Given the description of an element on the screen output the (x, y) to click on. 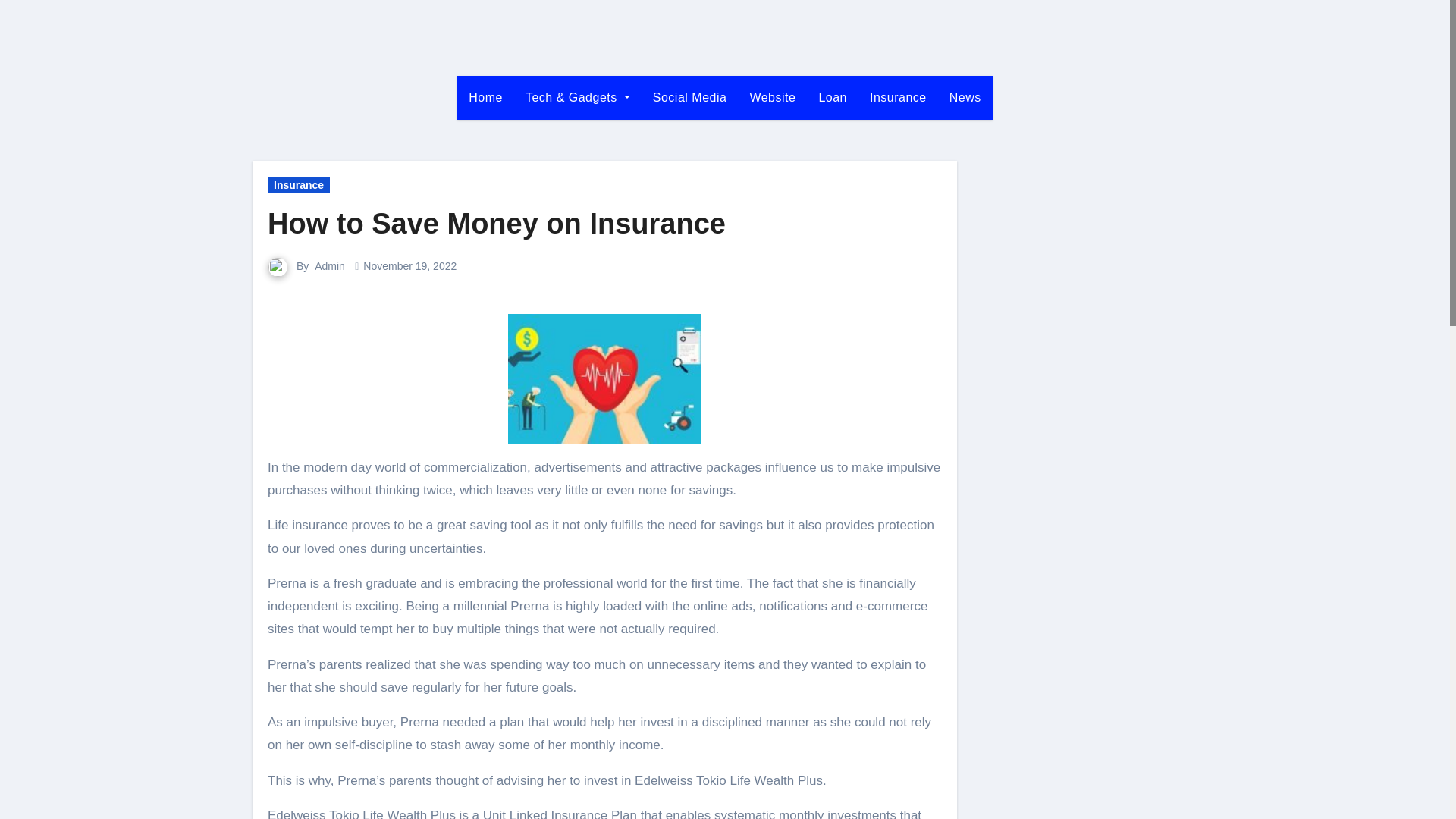
Home (485, 97)
Home (485, 97)
Admin (329, 265)
Website (772, 97)
Social Media (690, 97)
Loan (832, 97)
Website (772, 97)
Loan (832, 97)
Insurance (298, 184)
November 19, 2022 (409, 265)
News (964, 97)
Permalink to: How to Save Money on Insurance (496, 223)
Insurance (898, 97)
Insurance (898, 97)
News (964, 97)
